Given the description of an element on the screen output the (x, y) to click on. 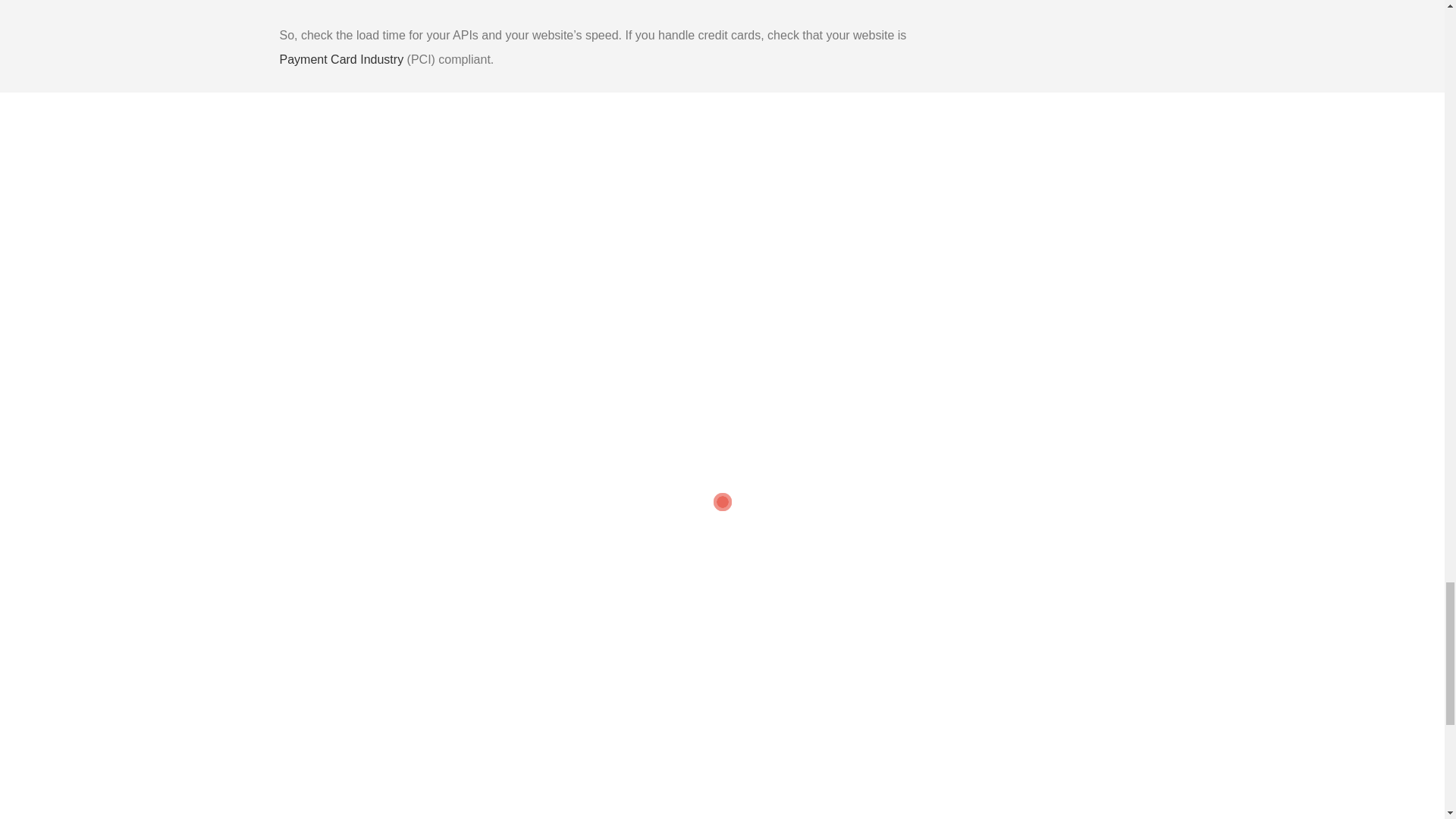
seasonal shopping (540, 784)
retail holiday season (443, 784)
holiday shoppers (347, 784)
Click here (597, 678)
Payment Card Industry (342, 59)
potential customers (673, 374)
